Given the description of an element on the screen output the (x, y) to click on. 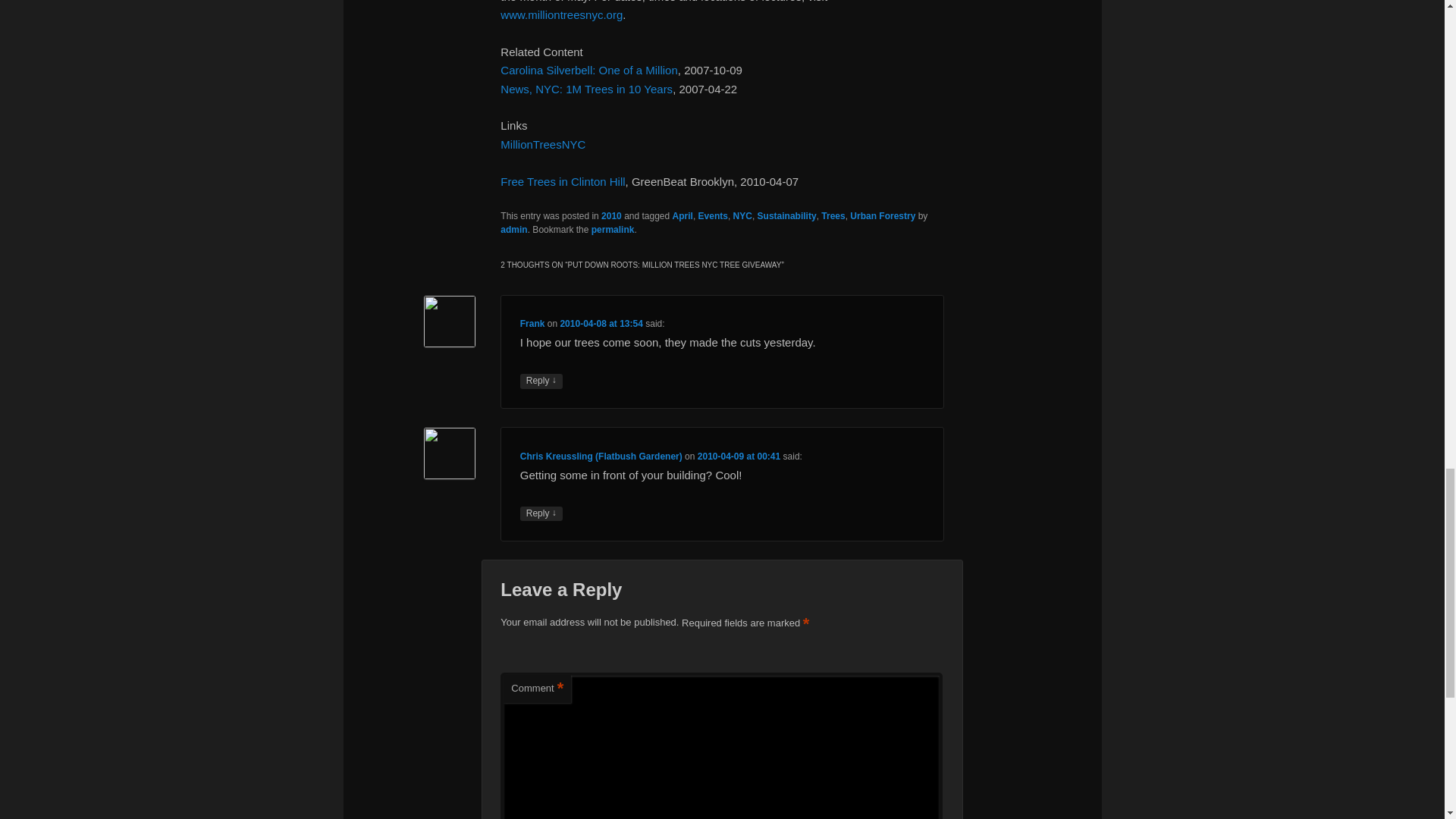
NYC (742, 215)
News, NYC: 1M Trees in 10 Years (586, 88)
permalink (612, 229)
Urban Forestry (882, 215)
Events (713, 215)
2010 (611, 215)
Permalink to Put Down Roots: Million Trees NYC Tree Giveaway (612, 229)
Frank (531, 323)
admin (513, 229)
April (682, 215)
